Given the description of an element on the screen output the (x, y) to click on. 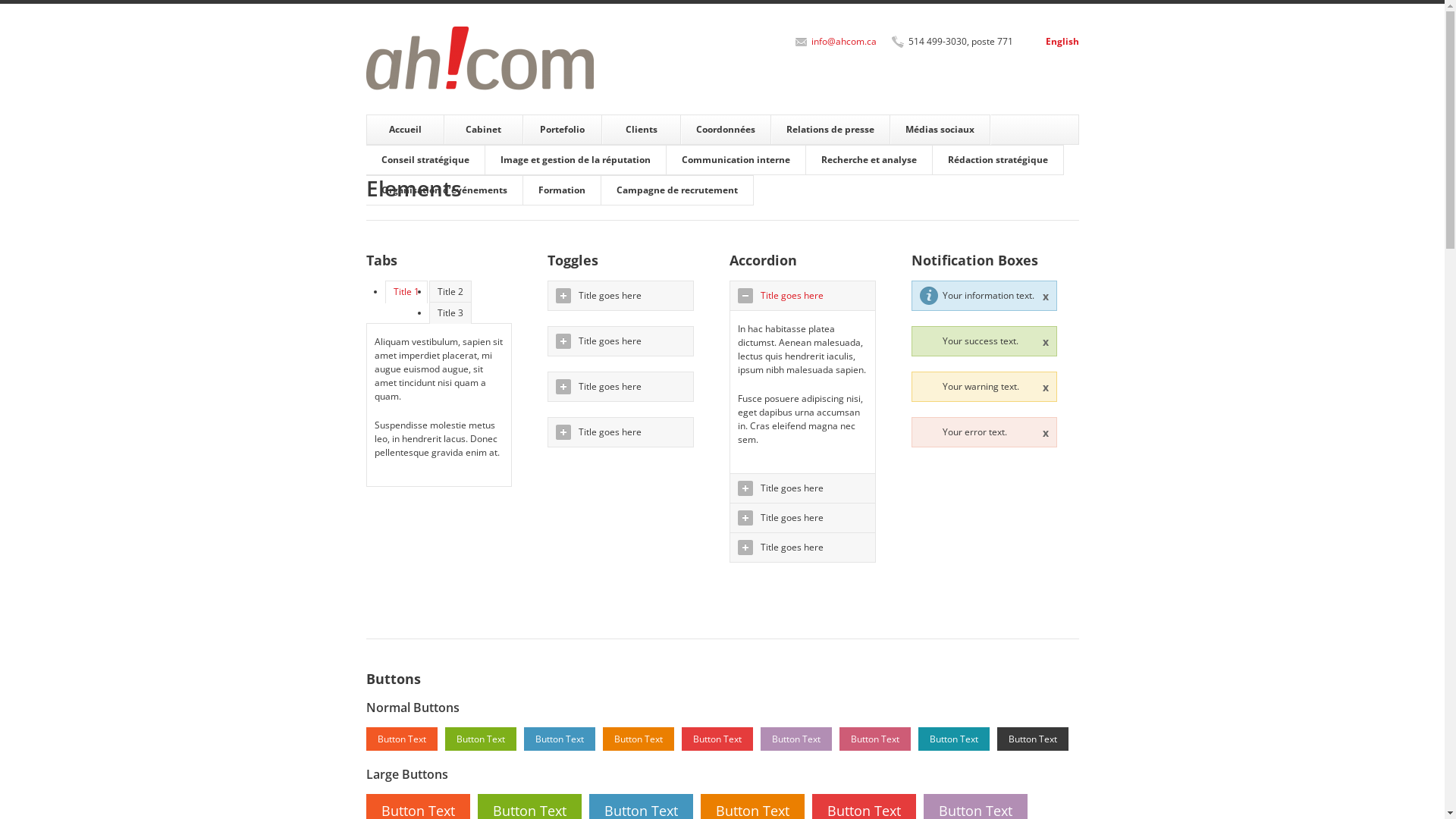
Accueil Element type: text (404, 129)
Button Text Element type: text (479, 738)
Button Text Element type: text (1031, 738)
Button Text Element type: text (716, 738)
Button Text Element type: text (952, 738)
x Element type: text (1045, 341)
Button Text Element type: text (874, 738)
Cabinet Element type: text (483, 129)
Title 2 Element type: text (450, 291)
x Element type: text (1045, 295)
Title 1 Element type: text (406, 291)
Button Text Element type: text (558, 738)
Relations de presse Element type: text (830, 129)
Recherche et analyse Element type: text (868, 159)
Communication interne Element type: text (735, 159)
Portefolio Element type: text (562, 129)
Formation Element type: text (562, 190)
Campagne de recrutement Element type: text (677, 190)
Button Text Element type: text (400, 738)
Title 3 Element type: text (450, 312)
Clients Element type: text (641, 129)
Button Text Element type: text (795, 738)
Button Text Element type: text (637, 738)
x Element type: text (1045, 386)
x Element type: text (1045, 432)
English Element type: text (1061, 40)
info@ahcom.ca Element type: text (843, 40)
